Given the description of an element on the screen output the (x, y) to click on. 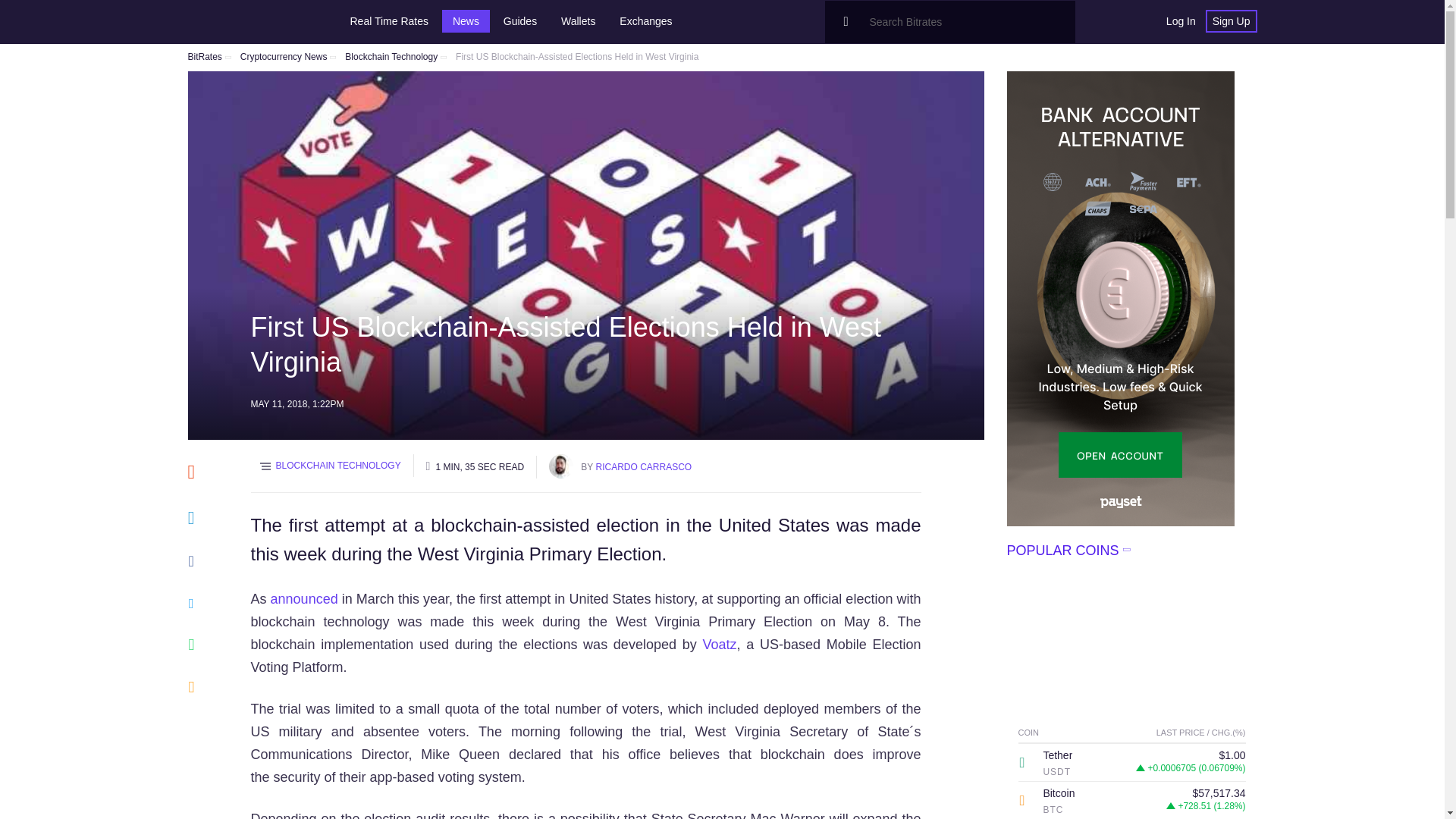
Real Time Rates (389, 20)
Bitrates (233, 21)
Guides (520, 20)
Voatz at Crunchbase (718, 644)
Exchanges (645, 20)
Login (1180, 20)
Wallets (577, 20)
News (465, 20)
